Given the description of an element on the screen output the (x, y) to click on. 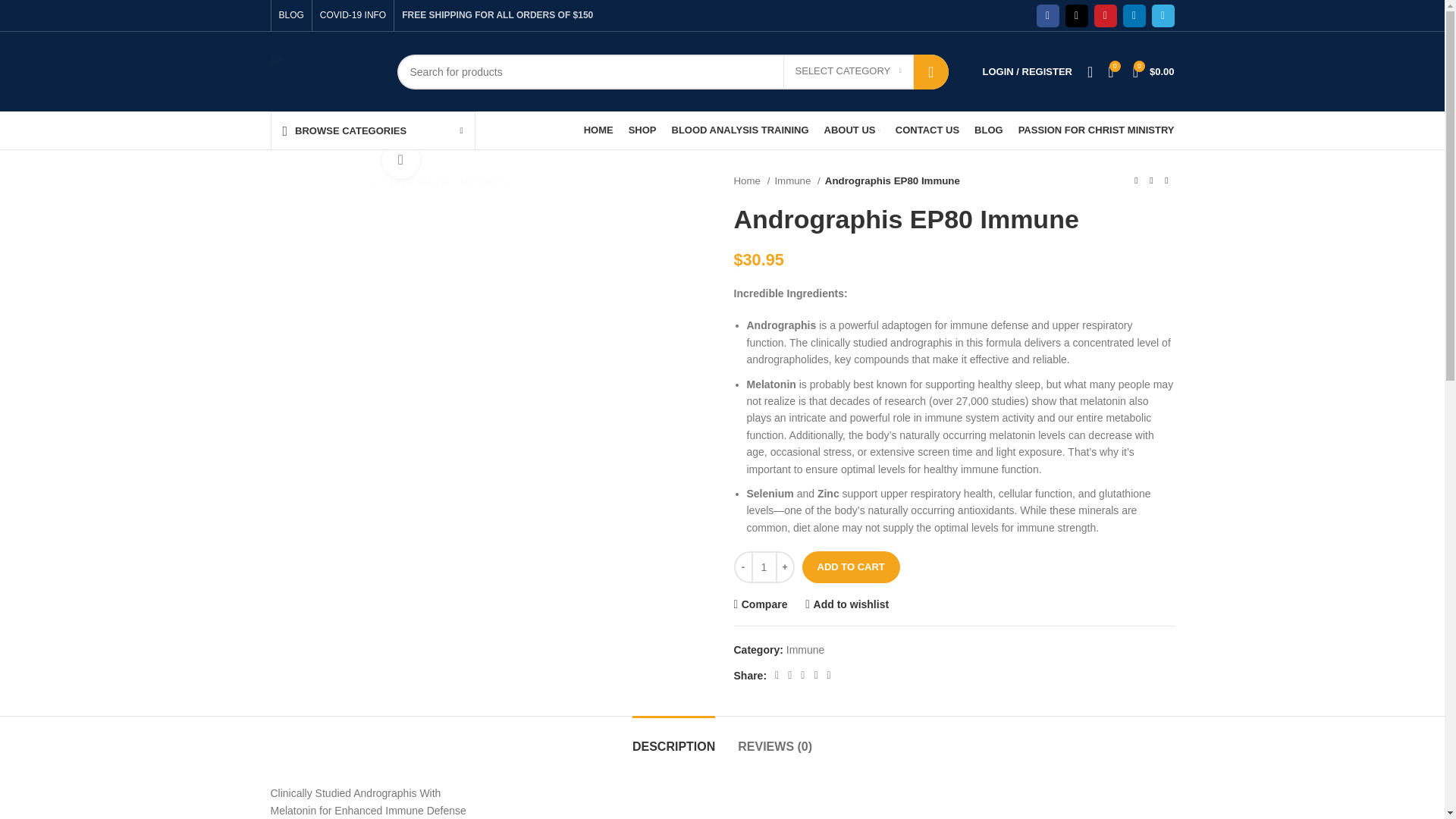
Search for products (673, 71)
71PHExKhZuL. AC SX679 (437, 181)
COVID-19 INFO (352, 15)
SELECT CATEGORY (848, 71)
My account (1027, 71)
SEARCH (931, 71)
Shopping cart (1153, 71)
SELECT CATEGORY (848, 71)
